Given the description of an element on the screen output the (x, y) to click on. 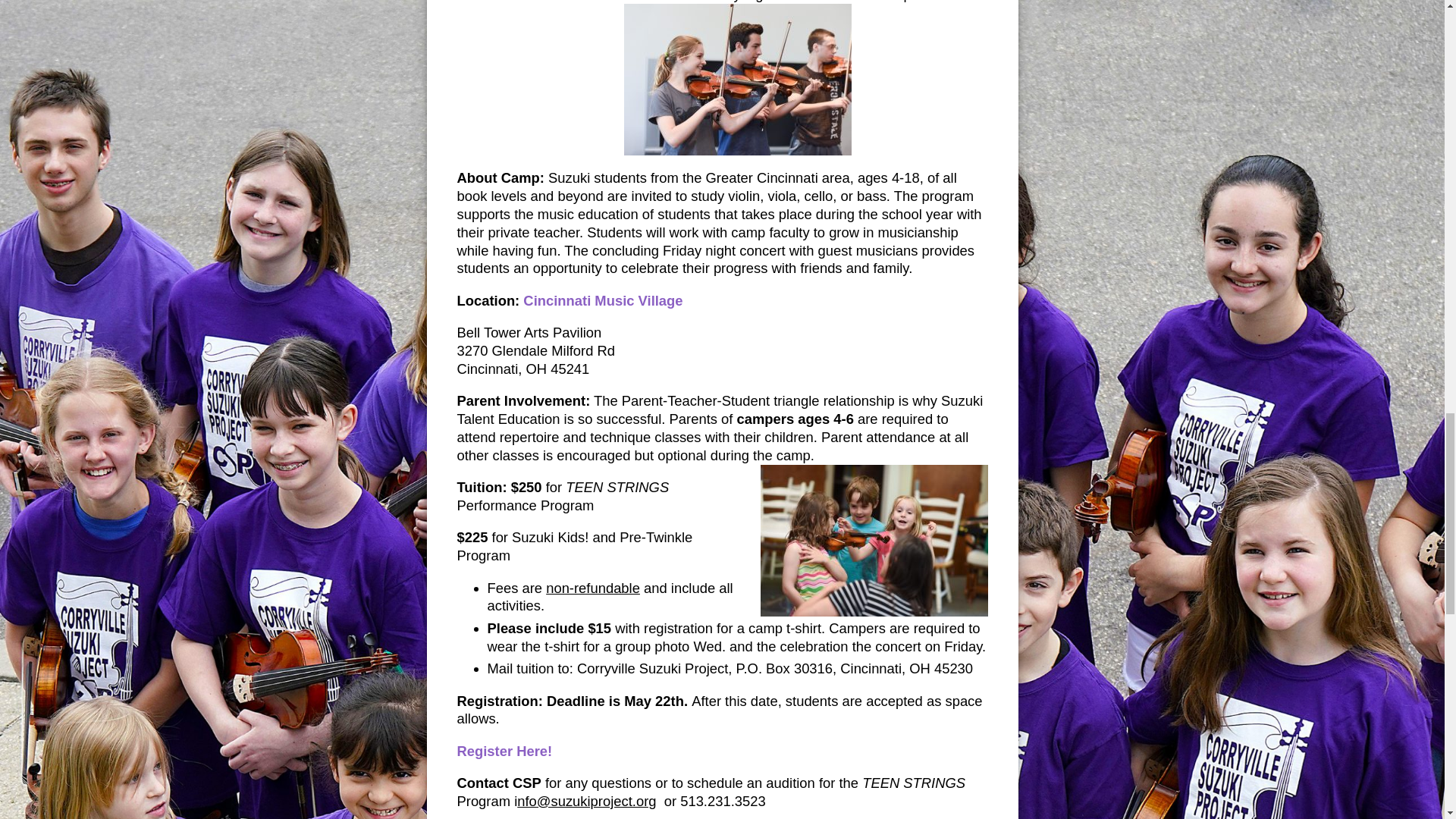
Cincinnati Music Village (602, 300)
Register Here! (504, 750)
